Given the description of an element on the screen output the (x, y) to click on. 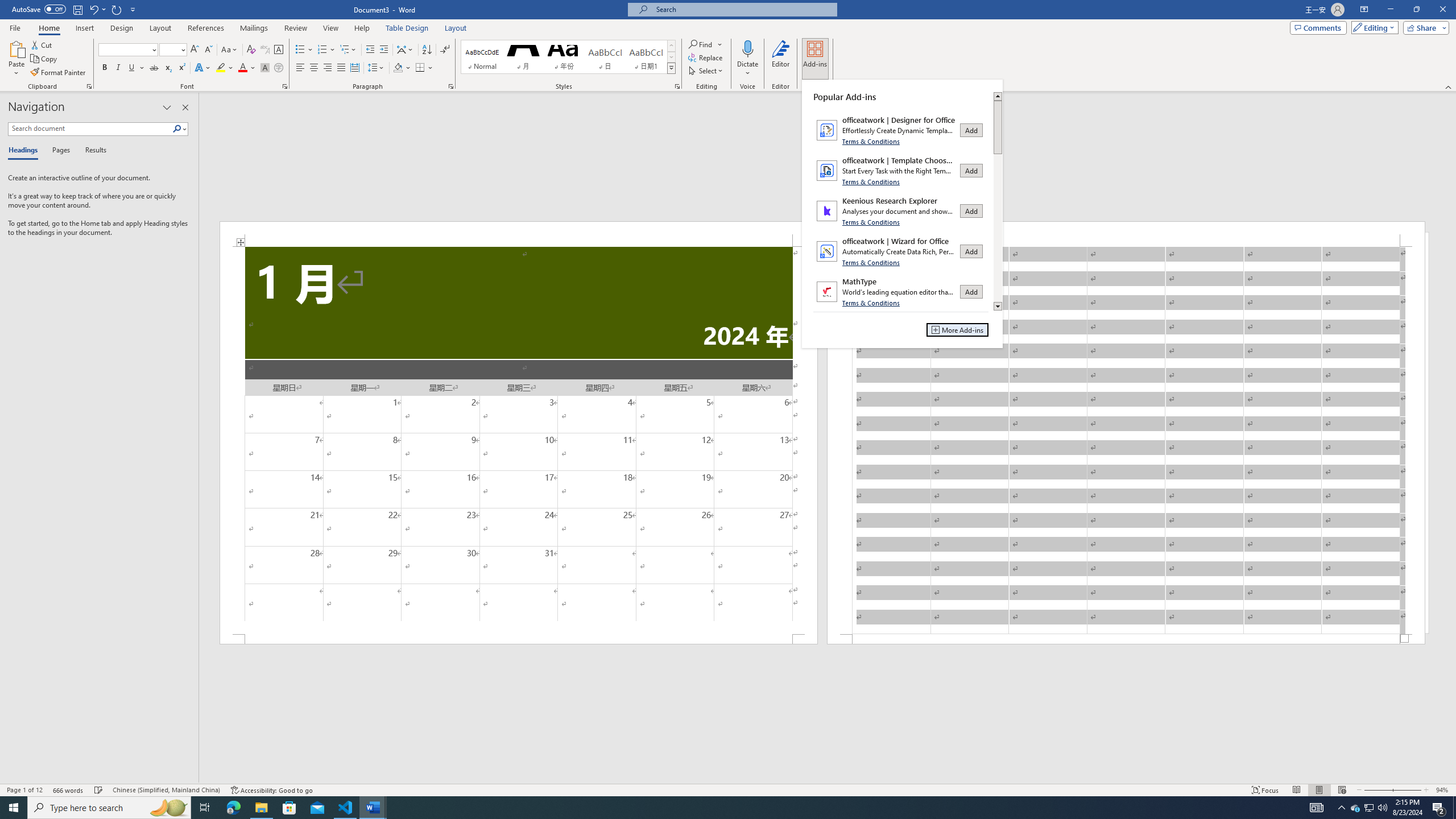
Line down (997, 307)
Page down (997, 227)
